Given the description of an element on the screen output the (x, y) to click on. 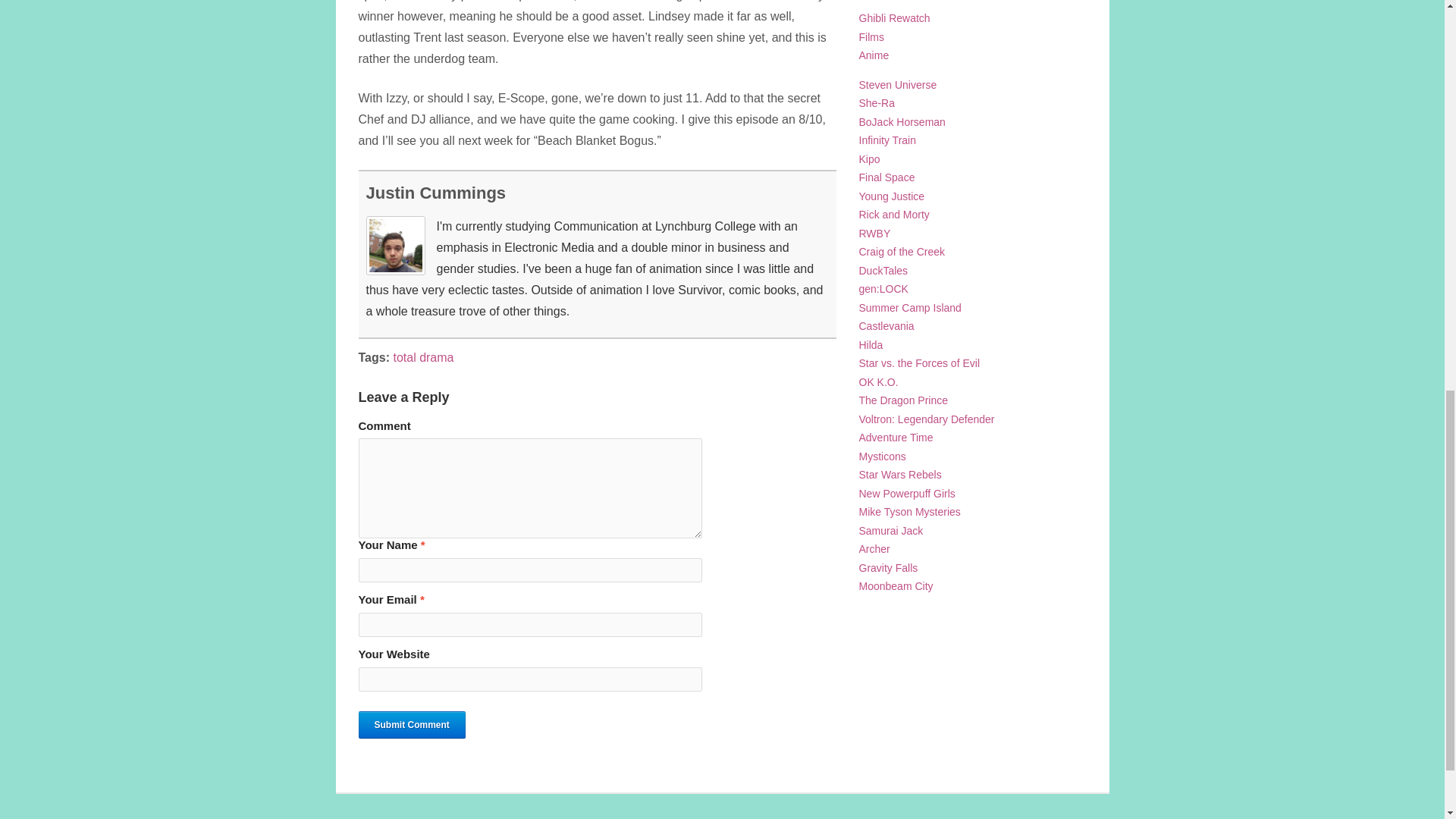
RWBY (874, 233)
Young Justice (891, 196)
Anime (873, 55)
total drama (422, 357)
Films (871, 37)
Craig of the Creek (901, 251)
Submit Comment (411, 724)
Justin Cummings (435, 192)
She-Ra (876, 102)
Submit Comment (411, 724)
All posts by Justin Cummings (435, 192)
Final Space (886, 177)
Infinity Train (887, 140)
Ghibli Rewatch (894, 18)
Rick and Morty (893, 214)
